Given the description of an element on the screen output the (x, y) to click on. 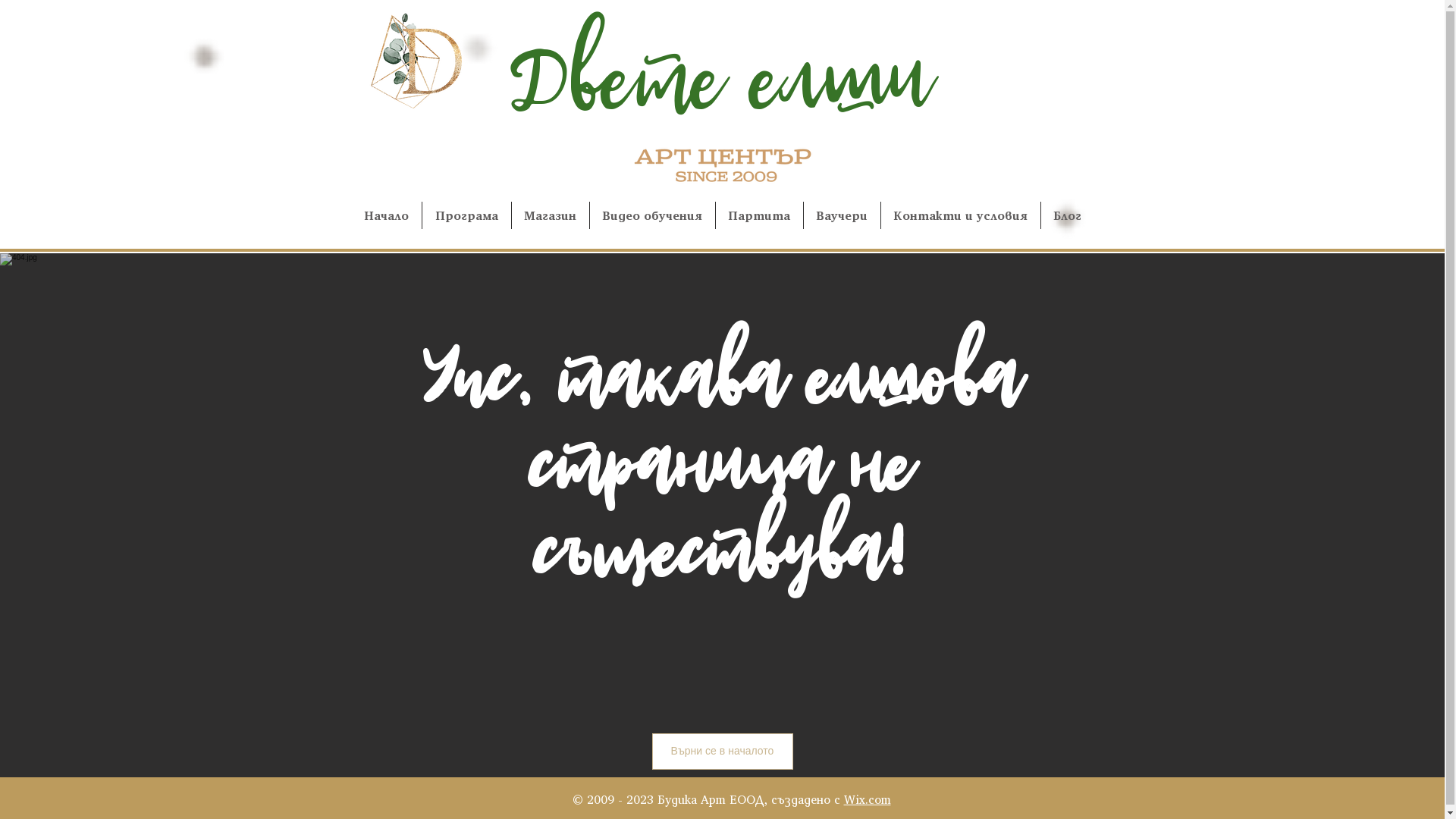
Wix.com Element type: text (866, 798)
